Given the description of an element on the screen output the (x, y) to click on. 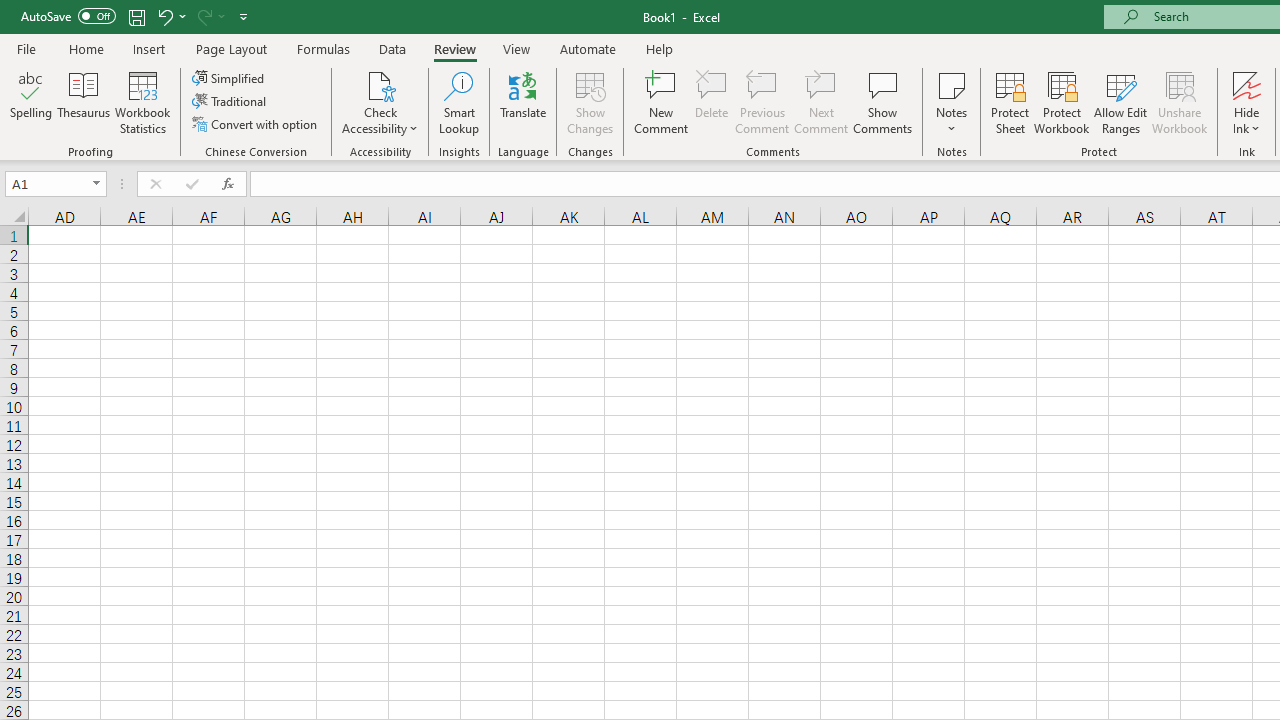
Notes (951, 102)
Workbook Statistics (142, 102)
Next Comment (821, 102)
Simplified (230, 78)
Show Comments (883, 102)
Translate (523, 102)
